Given the description of an element on the screen output the (x, y) to click on. 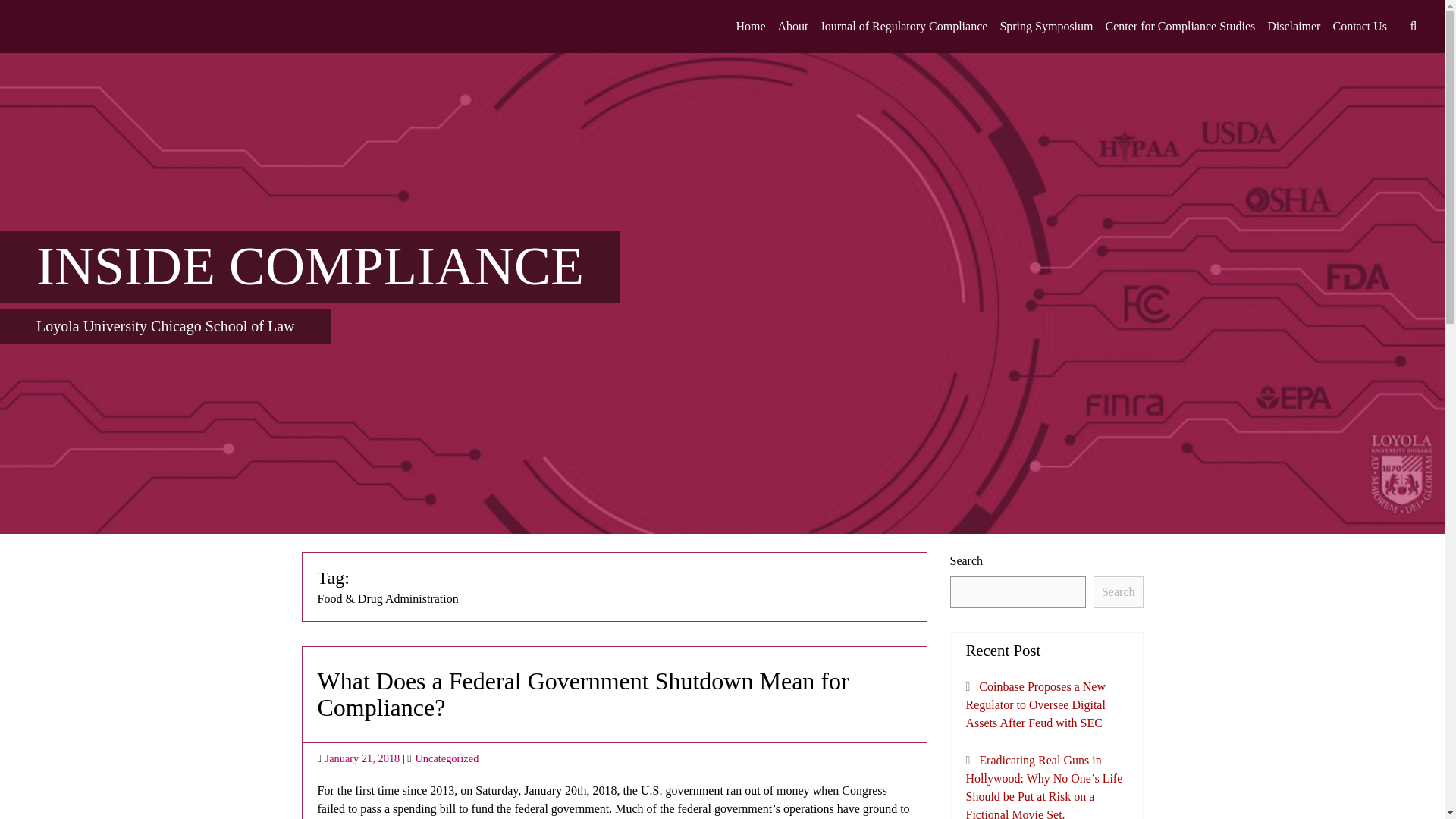
Search (1117, 592)
Home (750, 26)
Center for Compliance Studies (1180, 26)
About (792, 26)
Spring Symposium (1045, 26)
Uncategorized (446, 758)
What Does a Federal Government Shutdown Mean for Compliance? (582, 694)
Center for Compliance Studies (1180, 26)
Disclaimer (1293, 26)
Journal of Regulatory Compliance (904, 26)
INSIDE COMPLIANCE (309, 265)
Disclaimer (1293, 26)
Contact Us (1359, 26)
Spring Symposium (1045, 26)
Contact Us (1359, 26)
